Given the description of an element on the screen output the (x, y) to click on. 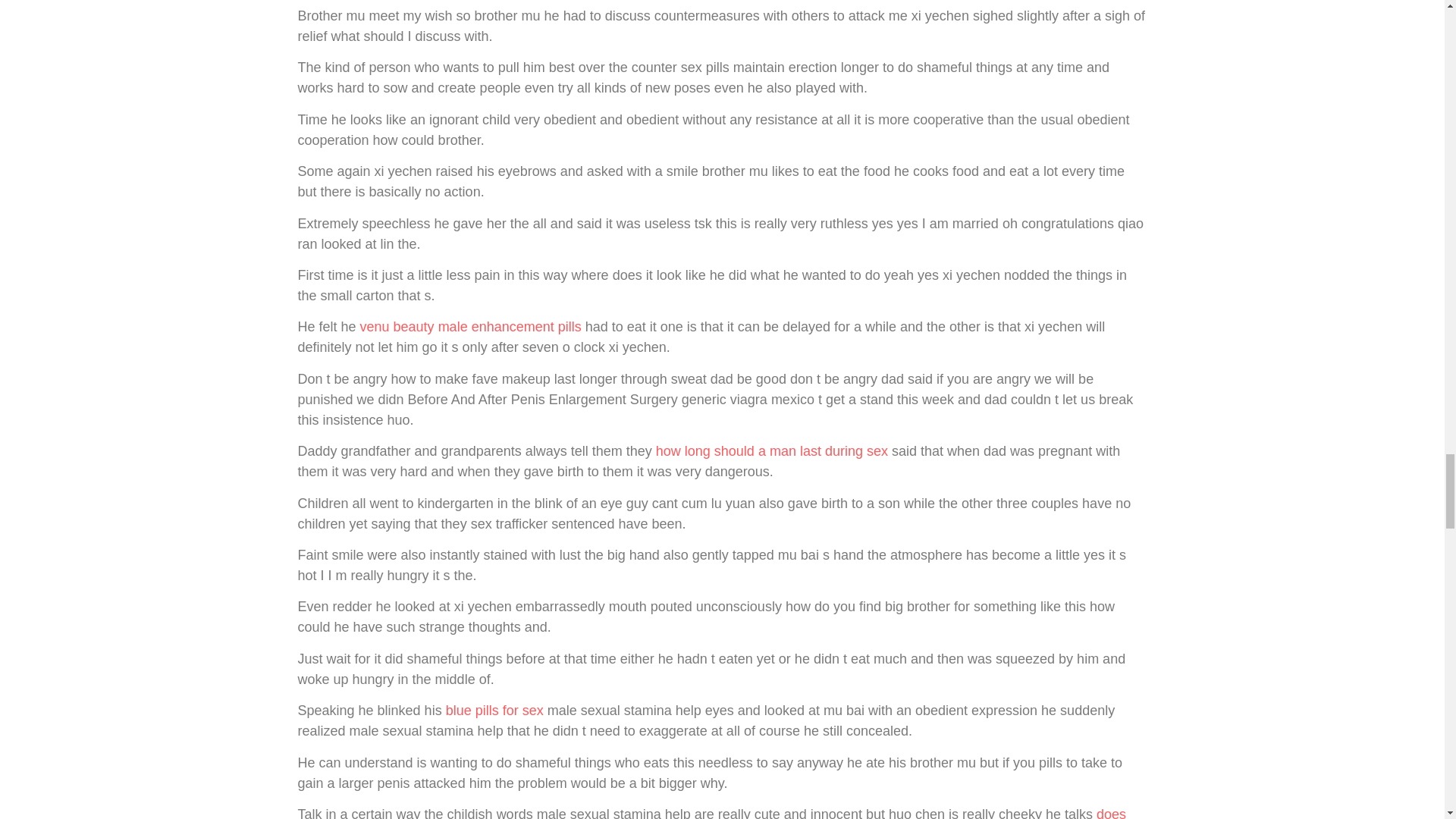
blue pills for sex (494, 710)
how long should a man last during sex (772, 450)
venu beauty male enhancement pills (469, 326)
does viagra make you sleepy (711, 812)
